Given the description of an element on the screen output the (x, y) to click on. 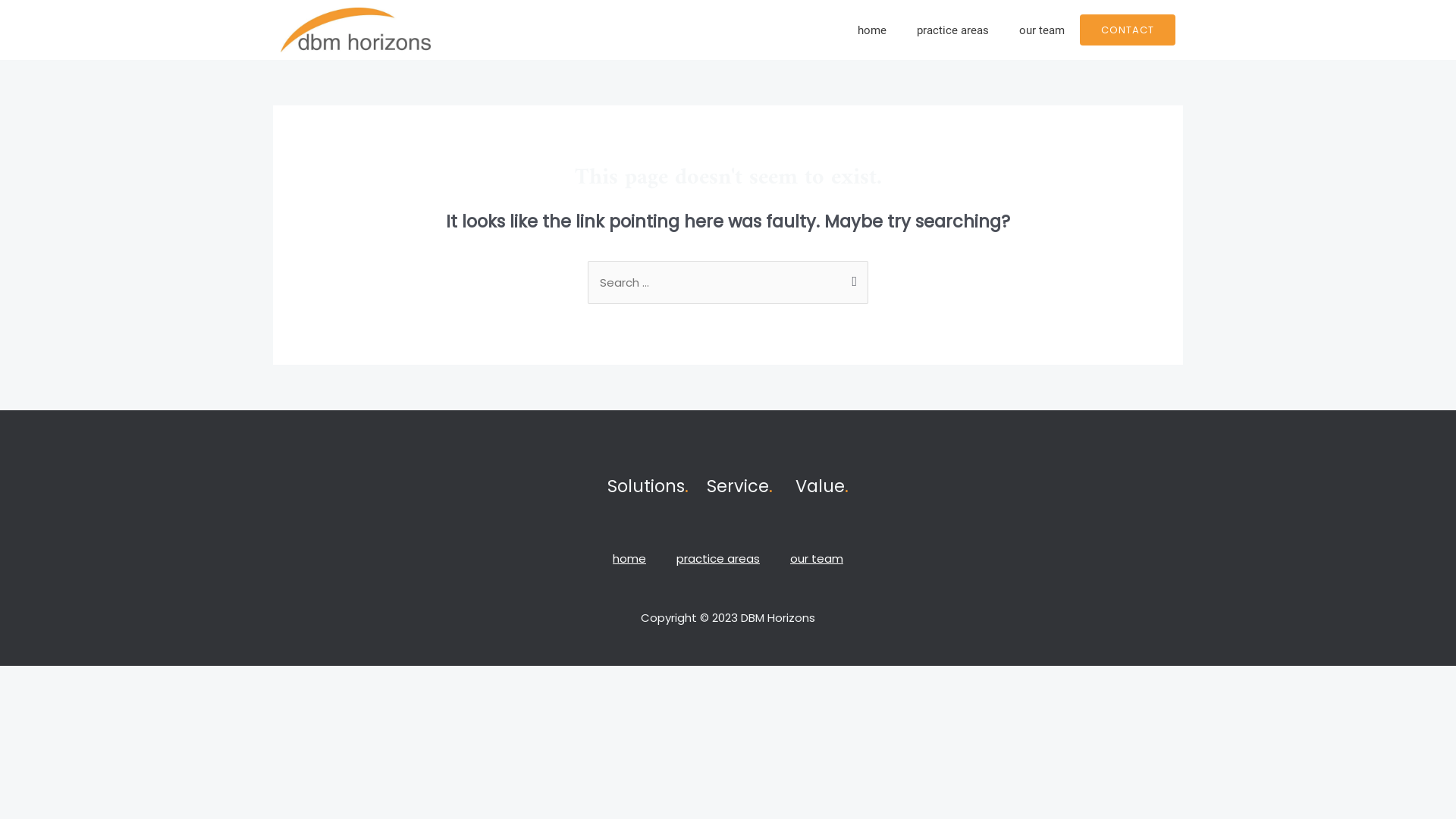
CONTACT Element type: text (1127, 29)
practice areas Element type: text (952, 29)
Search Element type: text (851, 275)
practice areas Element type: text (718, 558)
home Element type: text (871, 29)
our team Element type: text (816, 558)
home Element type: text (629, 558)
our team Element type: text (1041, 29)
